Given the description of an element on the screen output the (x, y) to click on. 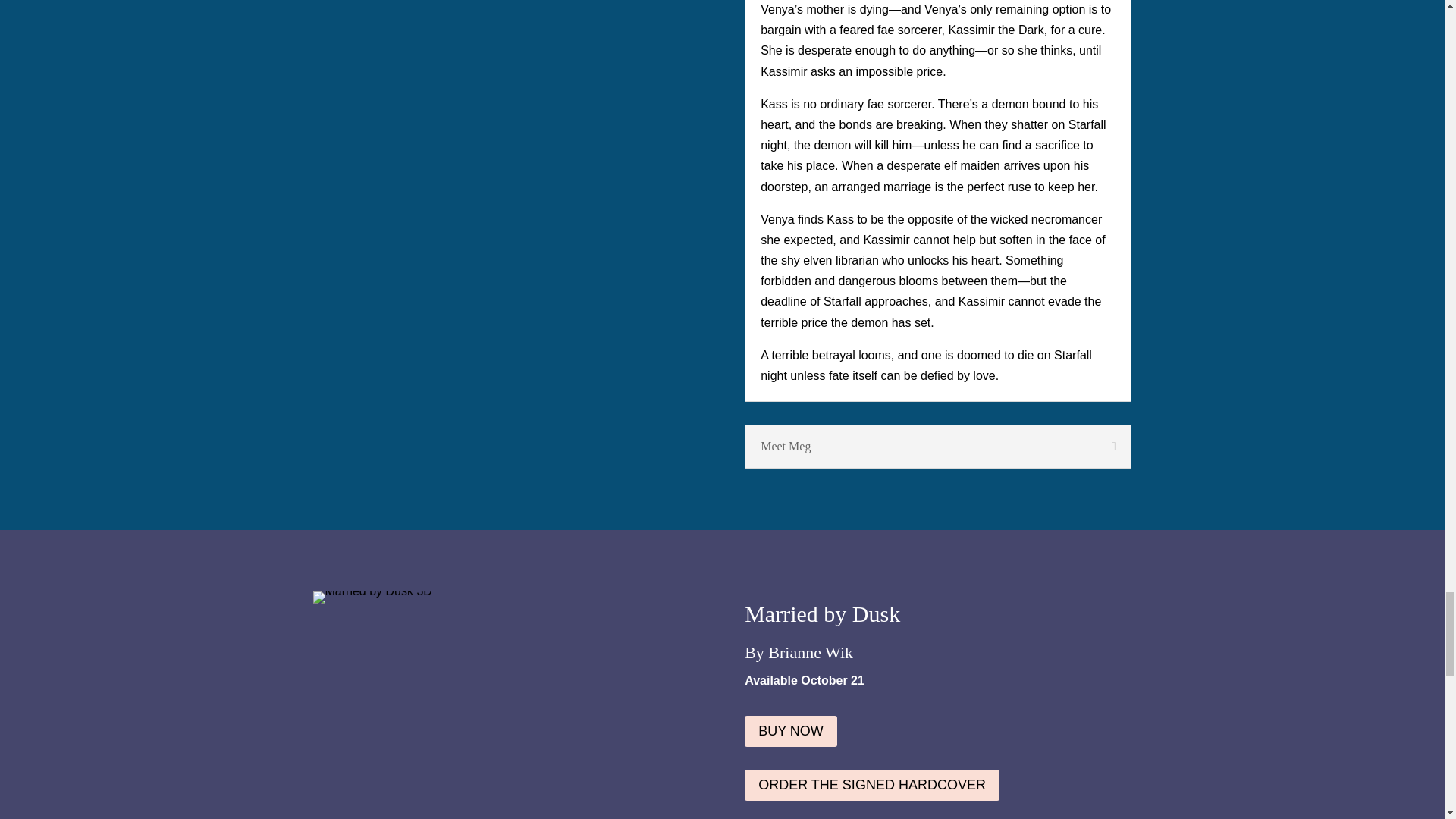
ORDER THE SIGNED HARDCOVER (871, 784)
BUY NOW (790, 730)
Married by Dusk 3D (371, 597)
